Given the description of an element on the screen output the (x, y) to click on. 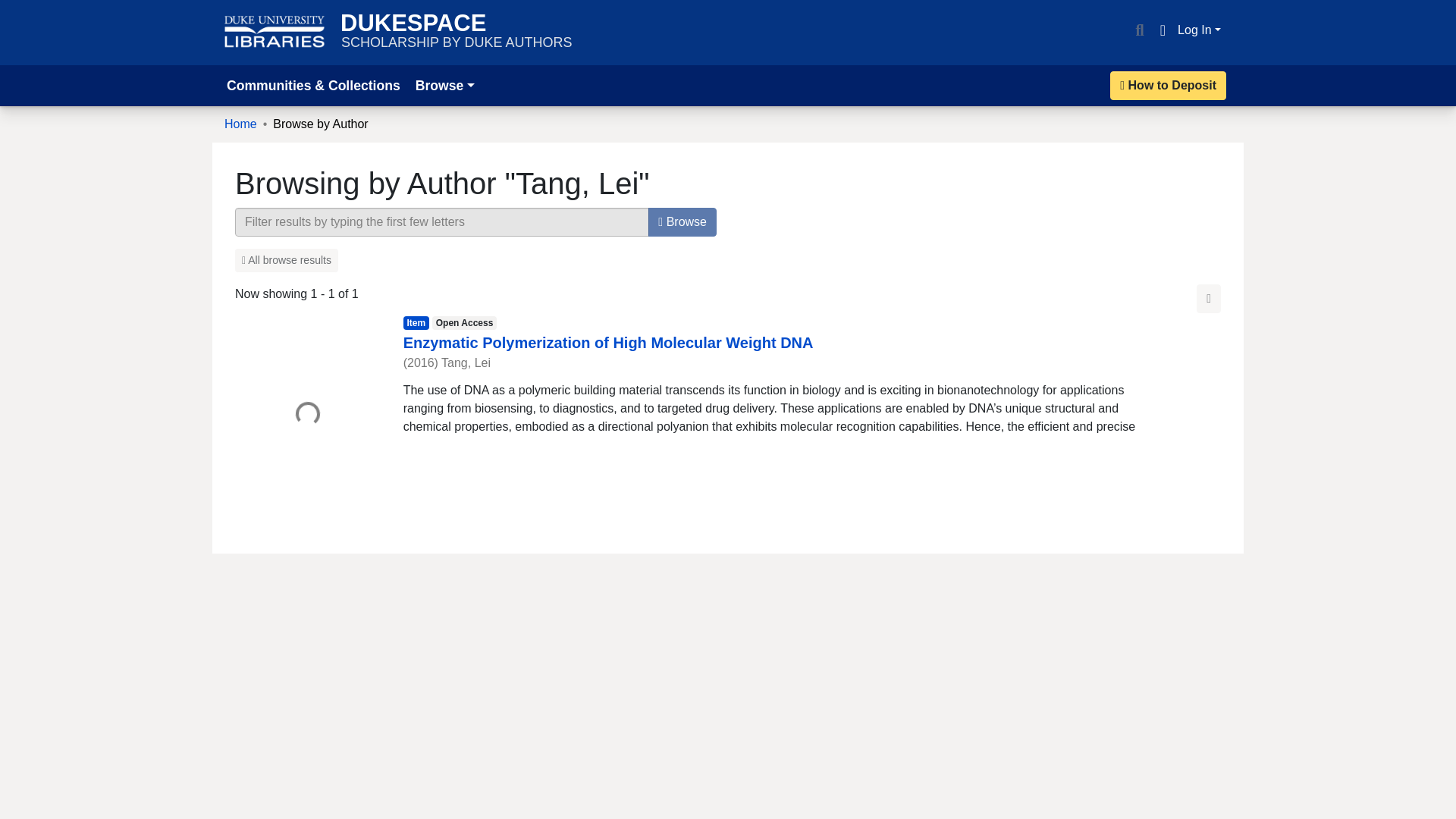
Home (240, 124)
Loading... (307, 415)
Browse (444, 85)
Language switch (1162, 30)
Search (1138, 30)
Browse (681, 222)
Pagination options (1208, 298)
Enzymatic Polymerization of High Molecular Weight DNA (608, 342)
Skip to Main Content (18, 9)
All browse results (285, 259)
Duke University Libraries (274, 32)
How to Deposit (456, 32)
Log In (1167, 85)
